Given the description of an element on the screen output the (x, y) to click on. 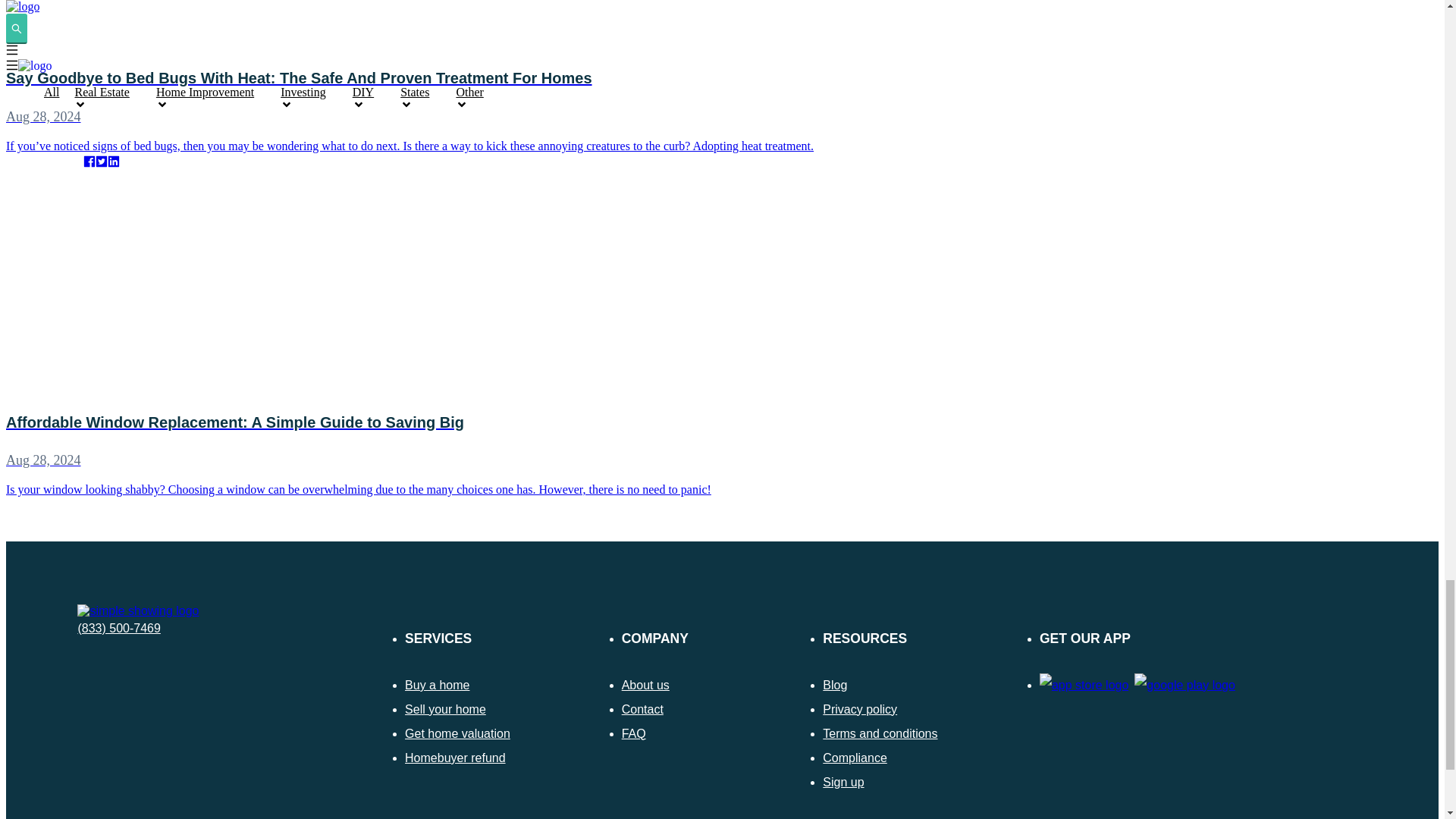
Contact (642, 708)
Privacy policy (859, 708)
Sell your home (445, 708)
Compliance (854, 757)
Get home valuation (457, 733)
Homebuyer refund (454, 757)
Terms and conditions (879, 733)
FAQ (633, 733)
About us (645, 684)
Sign up (842, 781)
